Given the description of an element on the screen output the (x, y) to click on. 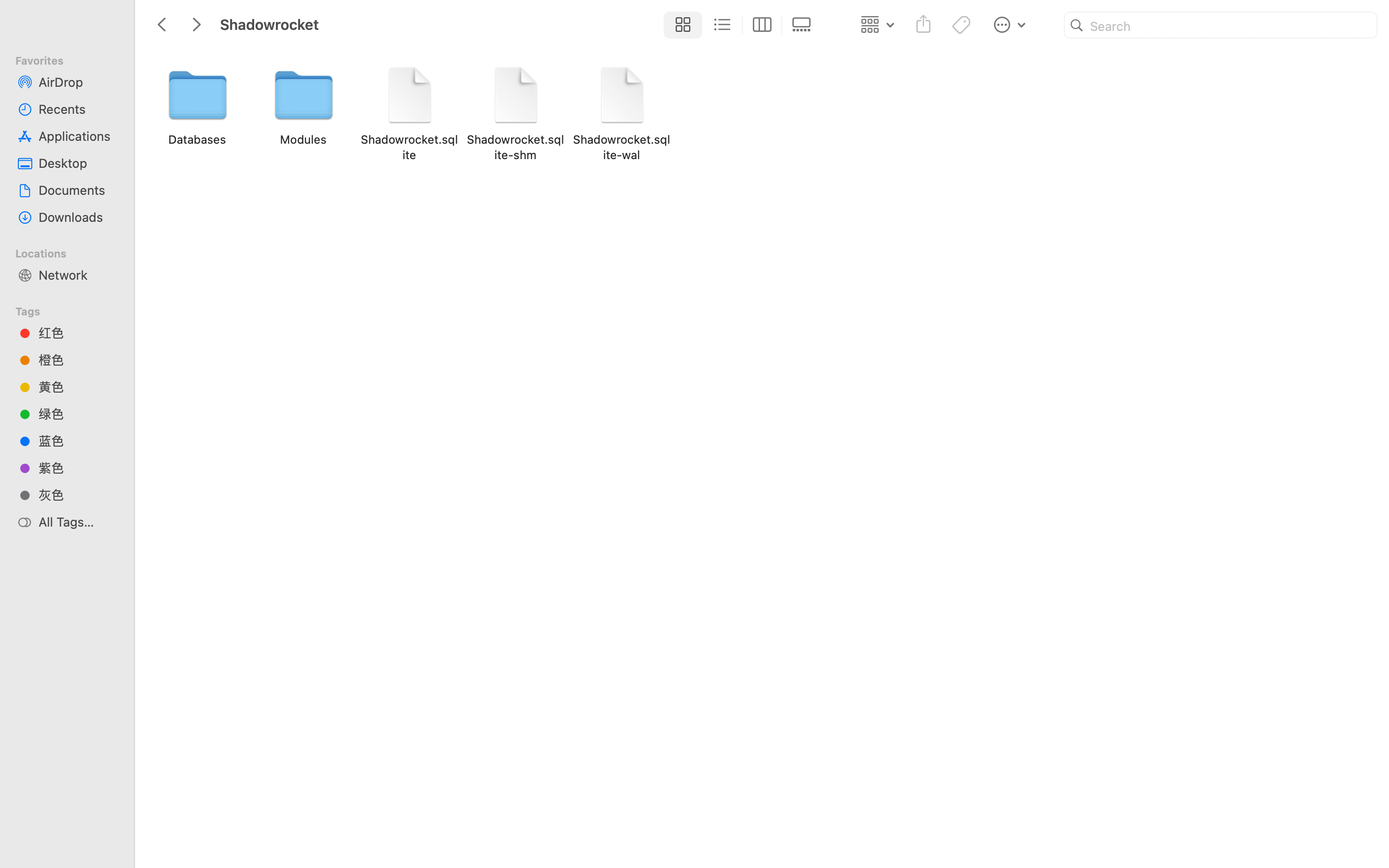
蓝色 Element type: AXStaticText (77, 440)
Shadowrocket Element type: AXStaticText (437, 827)
Documents Element type: AXStaticText (77, 189)
Tags… Element type: AXStaticText (20, 860)
绿色 Element type: AXStaticText (77, 413)
